Given the description of an element on the screen output the (x, y) to click on. 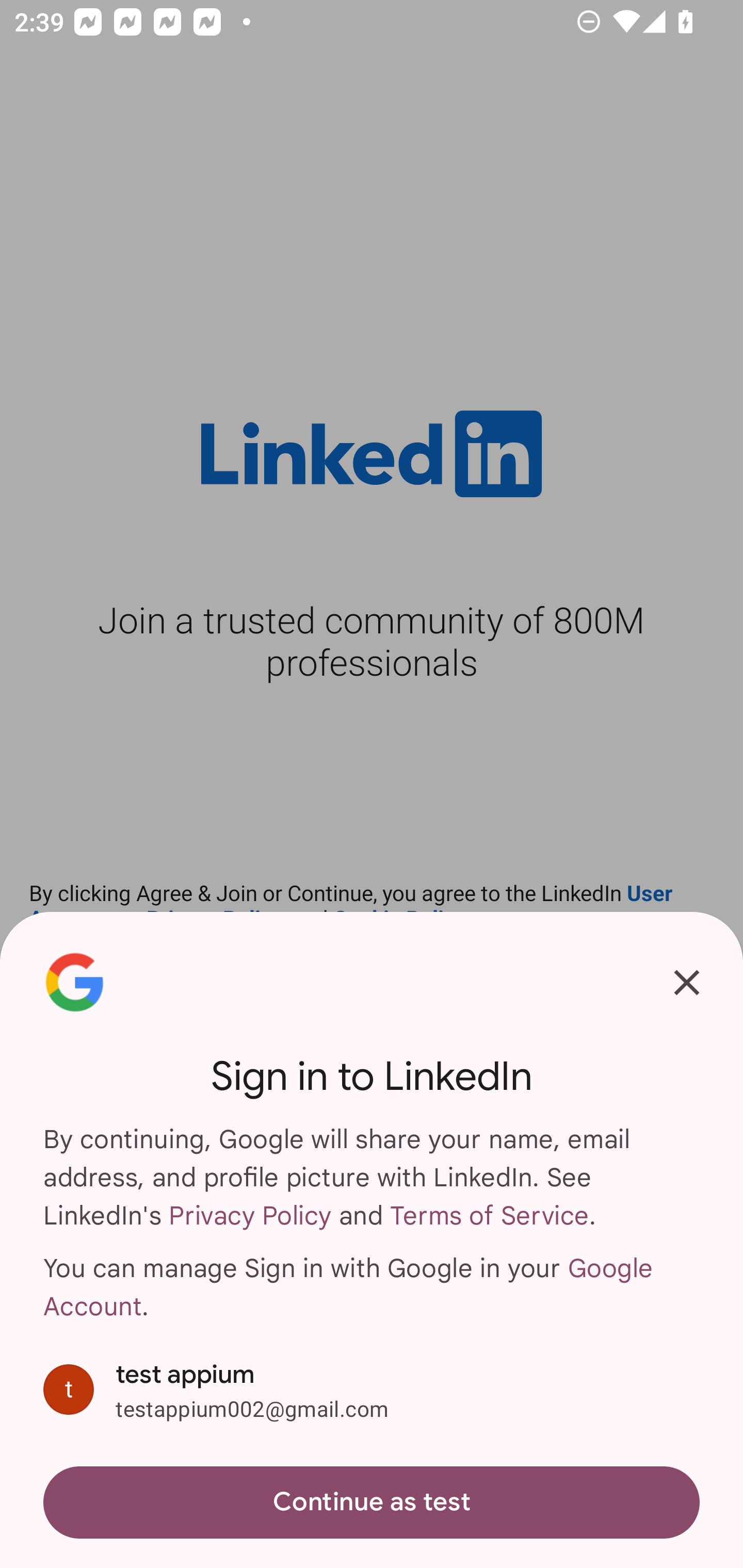
Cancel (686, 982)
Continue as test (371, 1502)
